Given the description of an element on the screen output the (x, y) to click on. 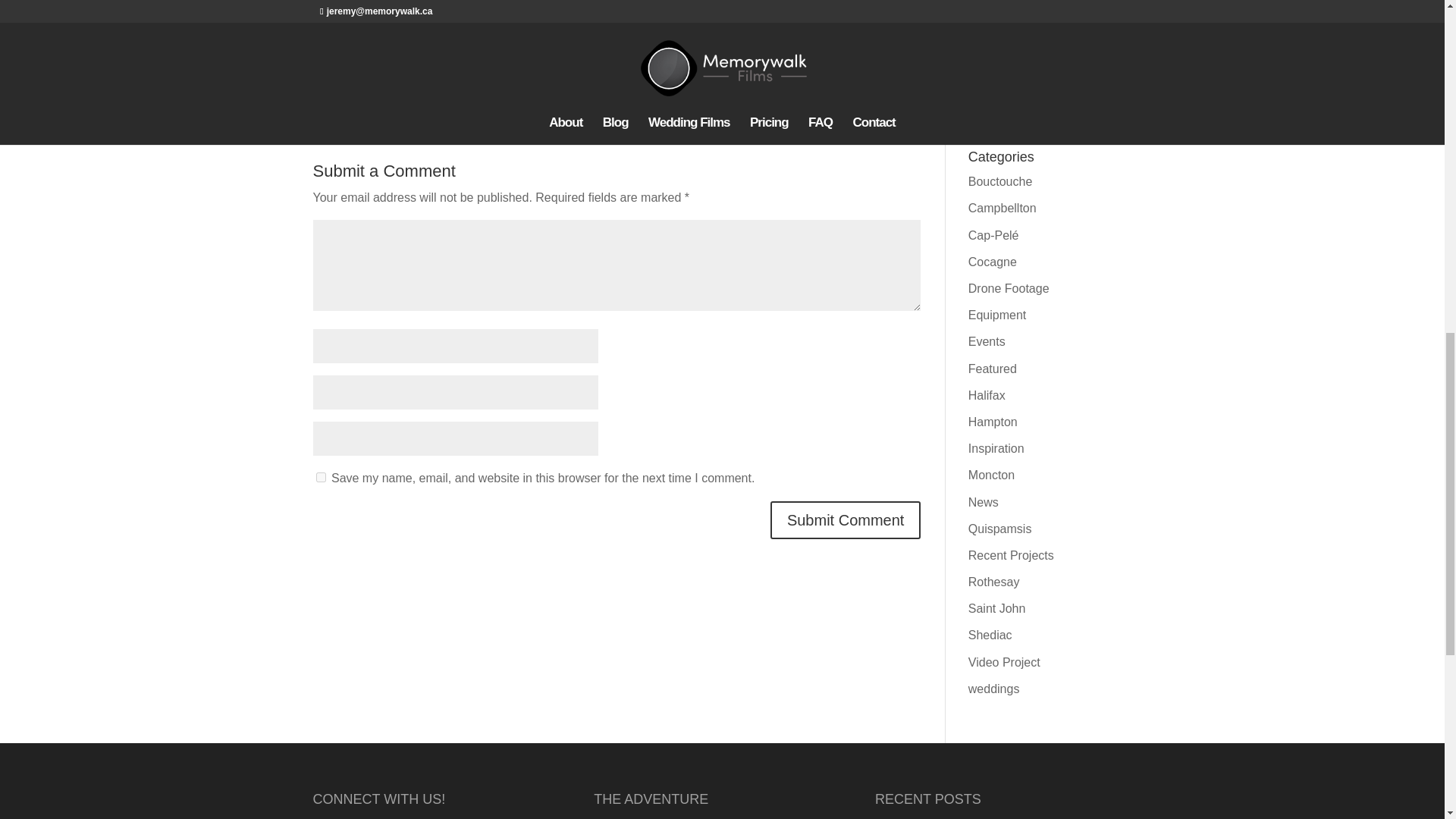
Submit Comment (845, 519)
Submit Comment (845, 519)
Facebook (439, 10)
Twitter (633, 10)
yes (319, 477)
